Given the description of an element on the screen output the (x, y) to click on. 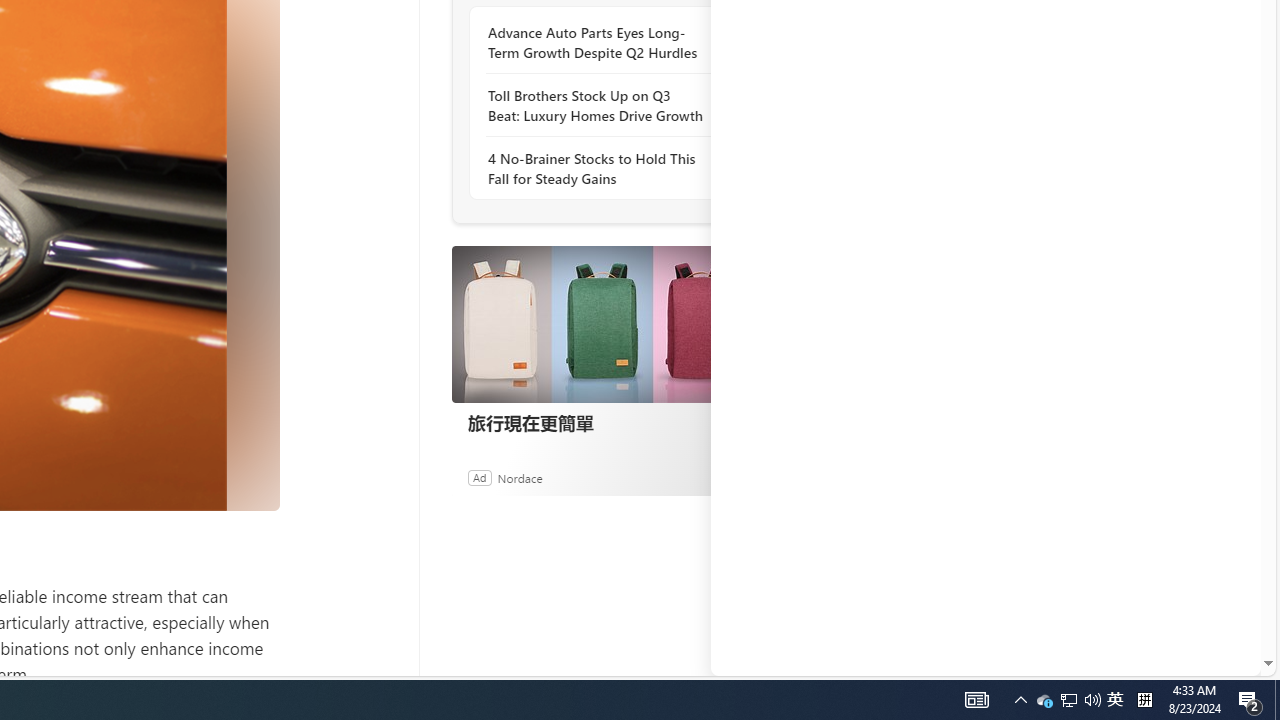
Toll Brothers Stock Up on Q3 Beat: Luxury Homes Drive Growth (596, 105)
4 No-Brainer Stocks to Hold This Fall for Steady Gains (596, 168)
Advance Auto Parts Eyes Long-Term Growth Despite Q2 Hurdles (596, 43)
